Given the description of an element on the screen output the (x, y) to click on. 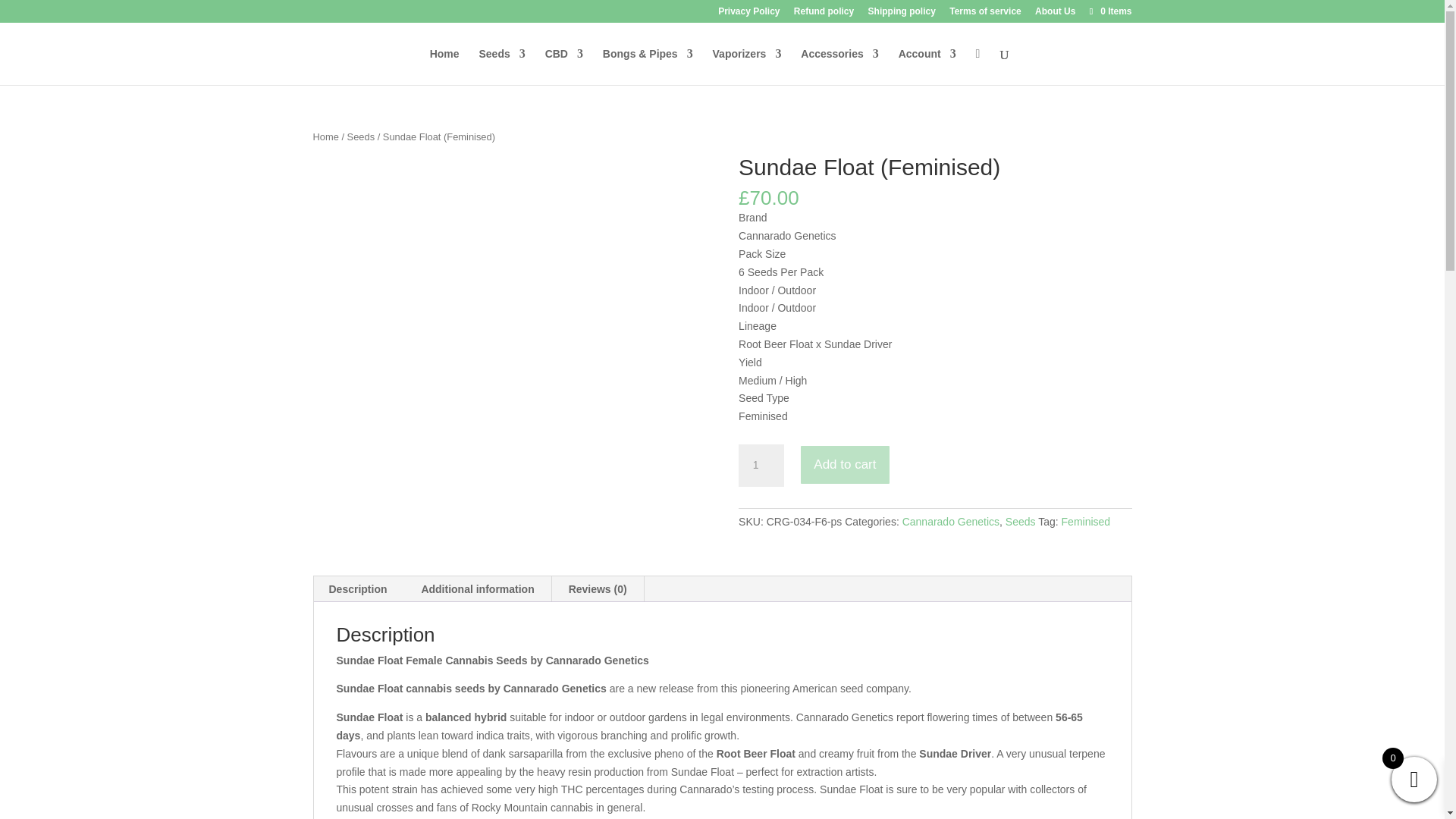
1 (761, 465)
Accessories (839, 66)
About Us (1055, 14)
0 Items (1108, 10)
Terms of service (985, 14)
Refund policy (823, 14)
Privacy Policy (747, 14)
CBD (563, 66)
Seeds (501, 66)
Shipping policy (901, 14)
